Given the description of an element on the screen output the (x, y) to click on. 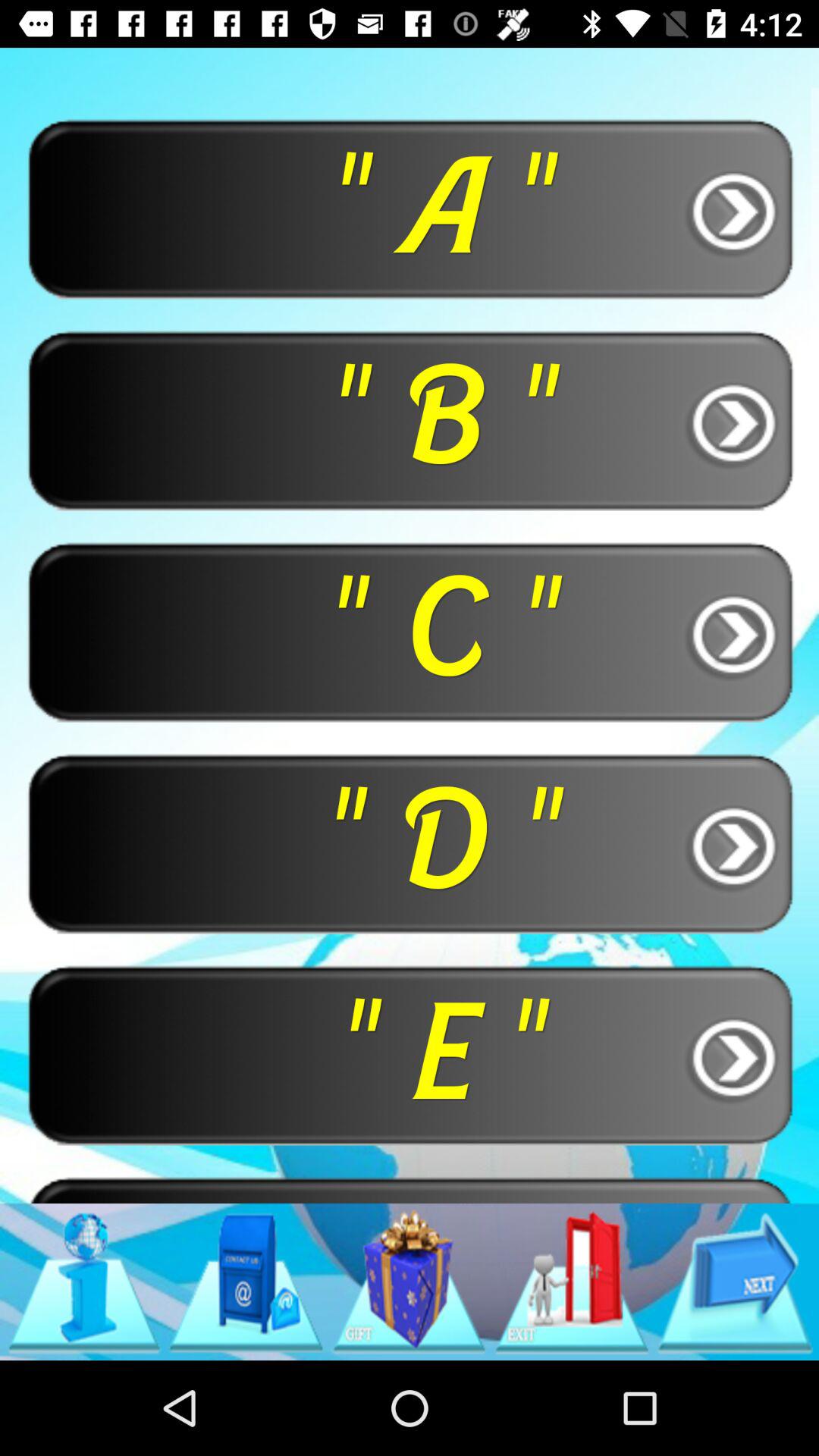
press the item below   " f " icon (245, 1281)
